Given the description of an element on the screen output the (x, y) to click on. 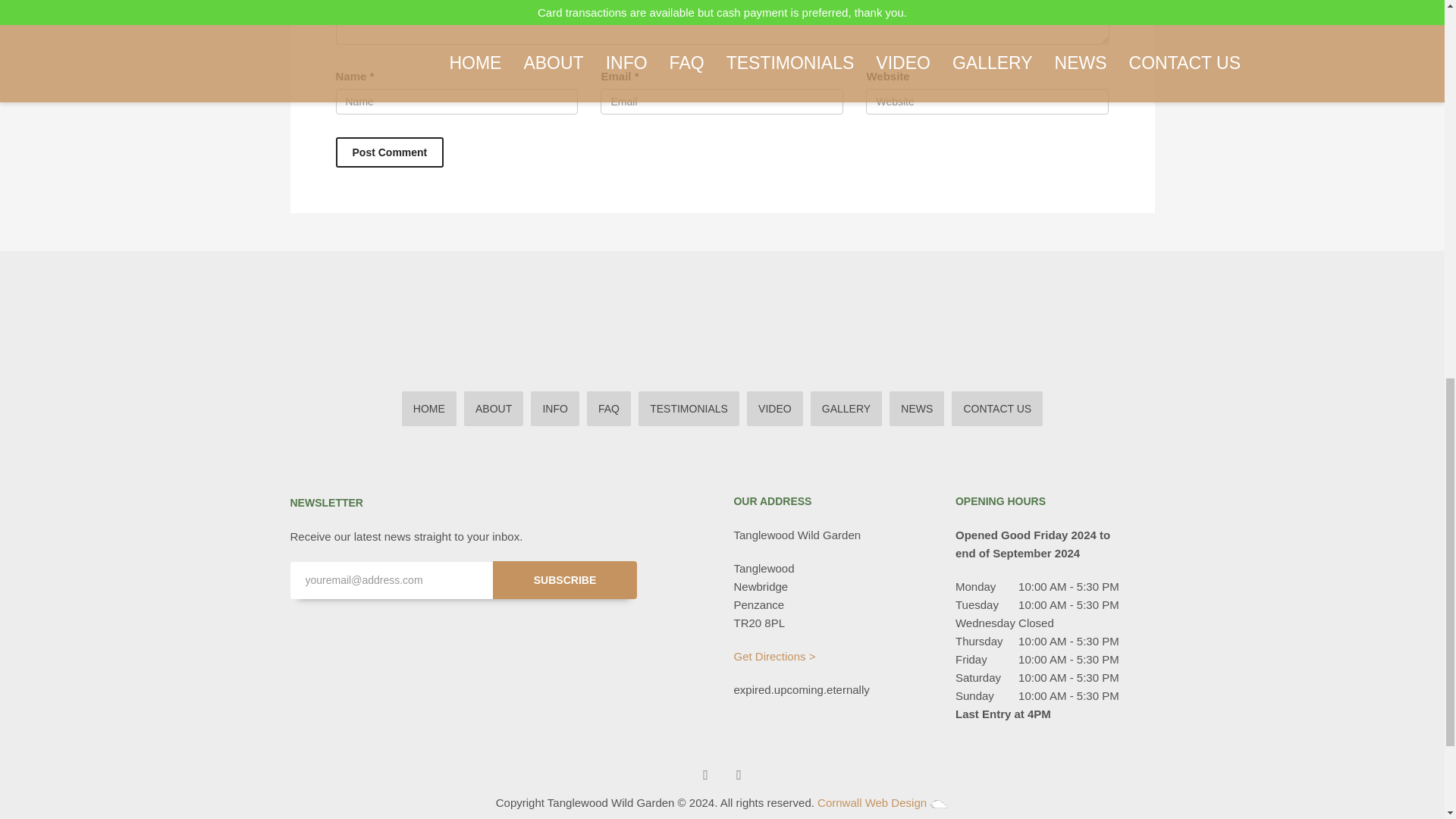
ABOUT (493, 408)
TESTIMONIALS (689, 408)
Post Comment (389, 152)
INFO (554, 408)
Cornwall Web Design (871, 802)
GALLERY (846, 408)
HOME (429, 408)
SUBSCRIBE (565, 579)
Cornwall Web Design (871, 802)
FAQ (608, 408)
VIDEO (774, 408)
NEWS (916, 408)
CONTACT US (997, 408)
Web Design Cornwall (939, 803)
